Given the description of an element on the screen output the (x, y) to click on. 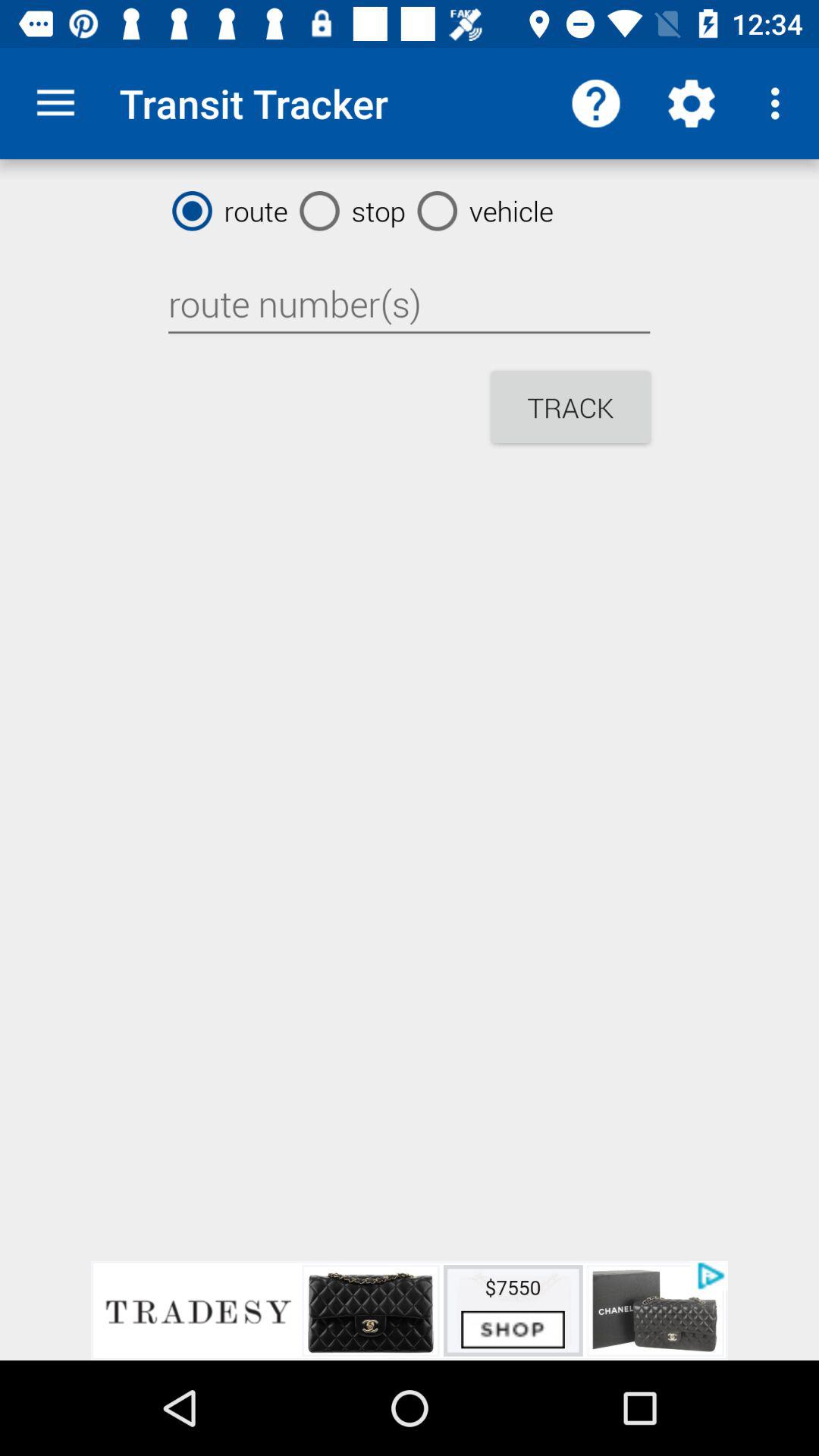
route number 's (409, 304)
